Given the description of an element on the screen output the (x, y) to click on. 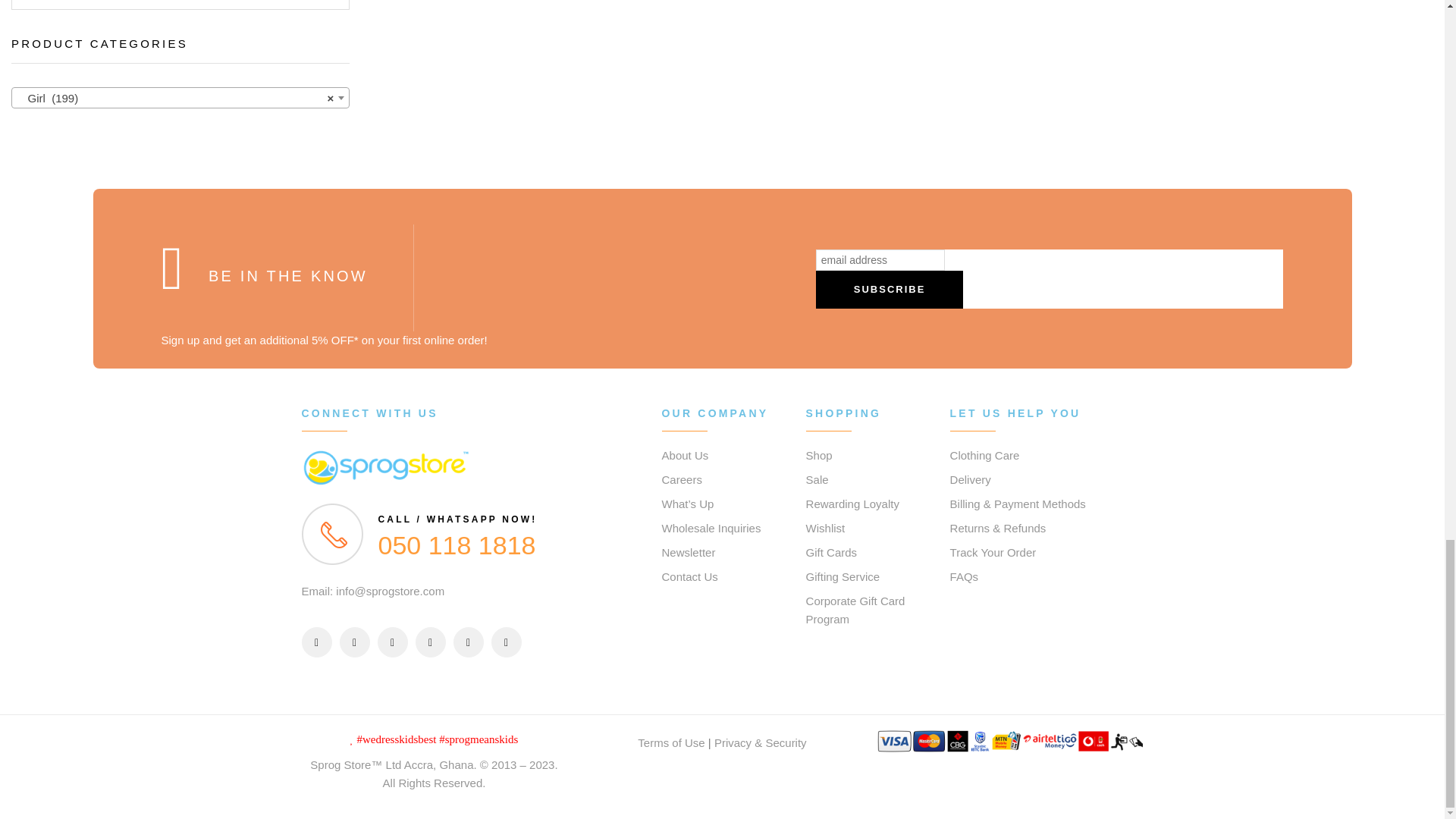
Subscribe (889, 289)
